Given the description of an element on the screen output the (x, y) to click on. 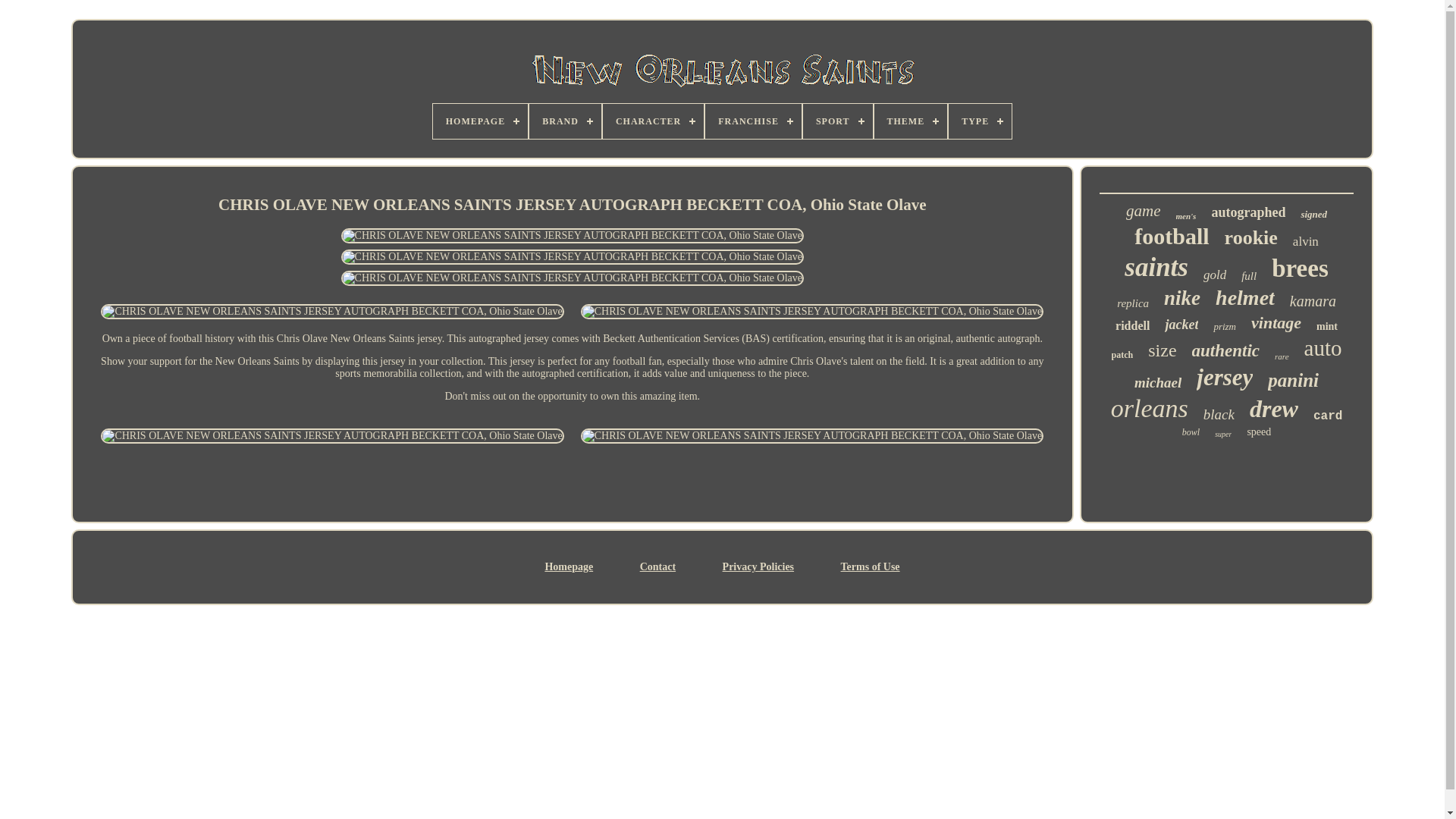
CHARACTER (652, 121)
HOMEPAGE (479, 121)
FRANCHISE (753, 121)
